Given the description of an element on the screen output the (x, y) to click on. 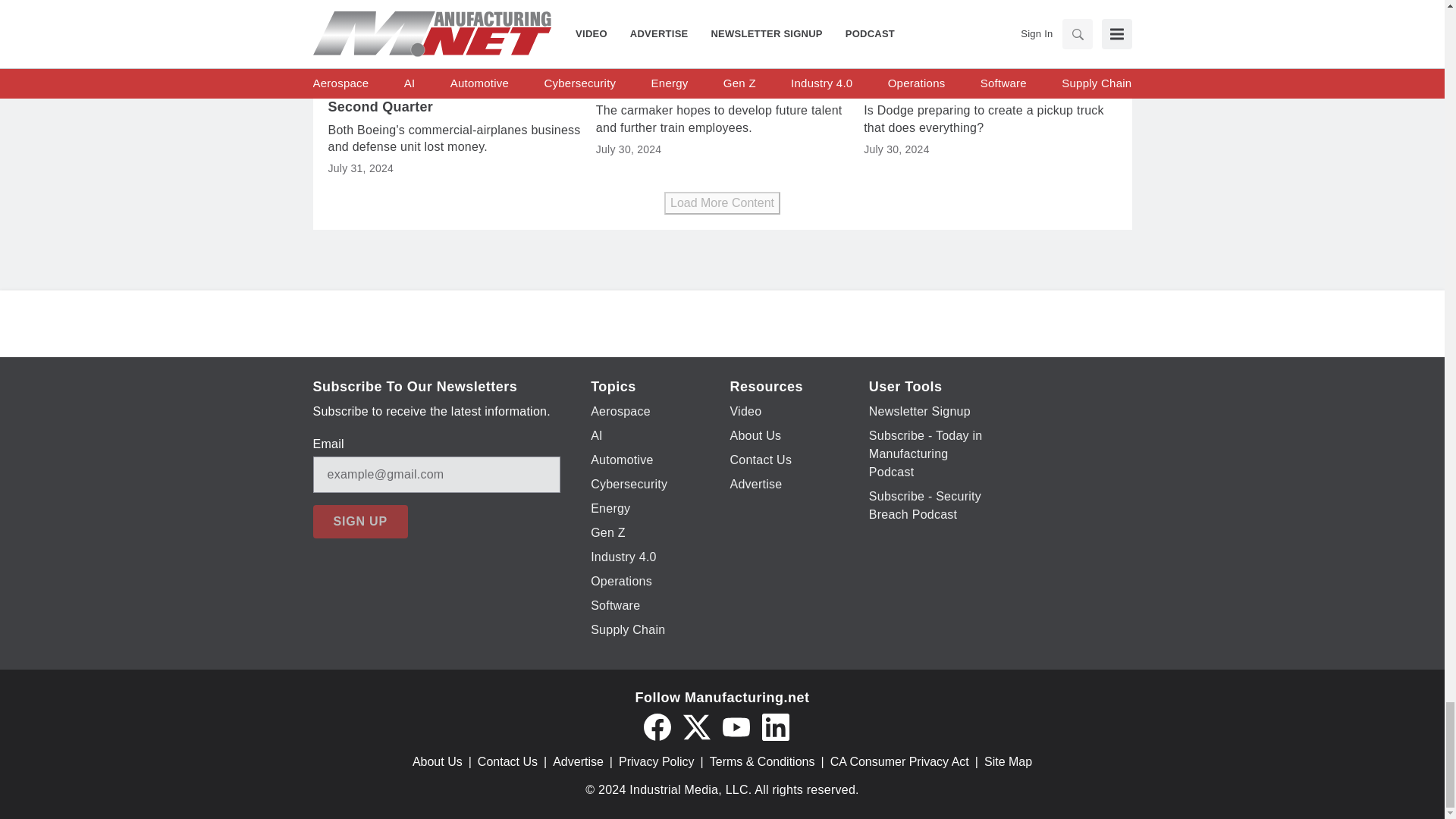
YouTube icon (735, 727)
Twitter X icon (696, 727)
Facebook icon (656, 727)
LinkedIn icon (775, 727)
